Given the description of an element on the screen output the (x, y) to click on. 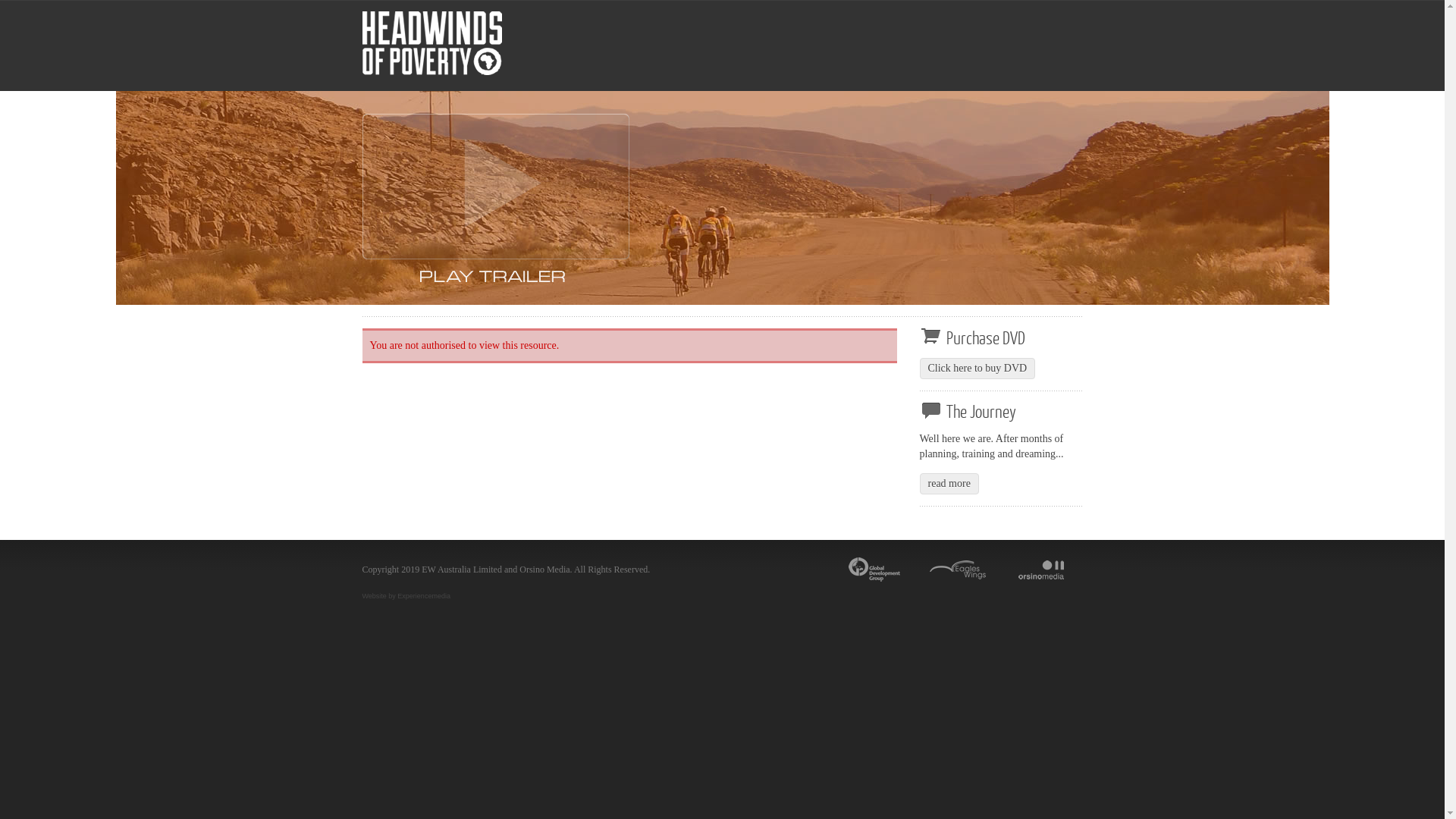
Headwinds of Poverty Element type: hover (495, 208)
Click here to buy DVD Element type: text (977, 368)
read more Element type: text (948, 483)
Website by Experiencemedia Element type: text (406, 595)
